Given the description of an element on the screen output the (x, y) to click on. 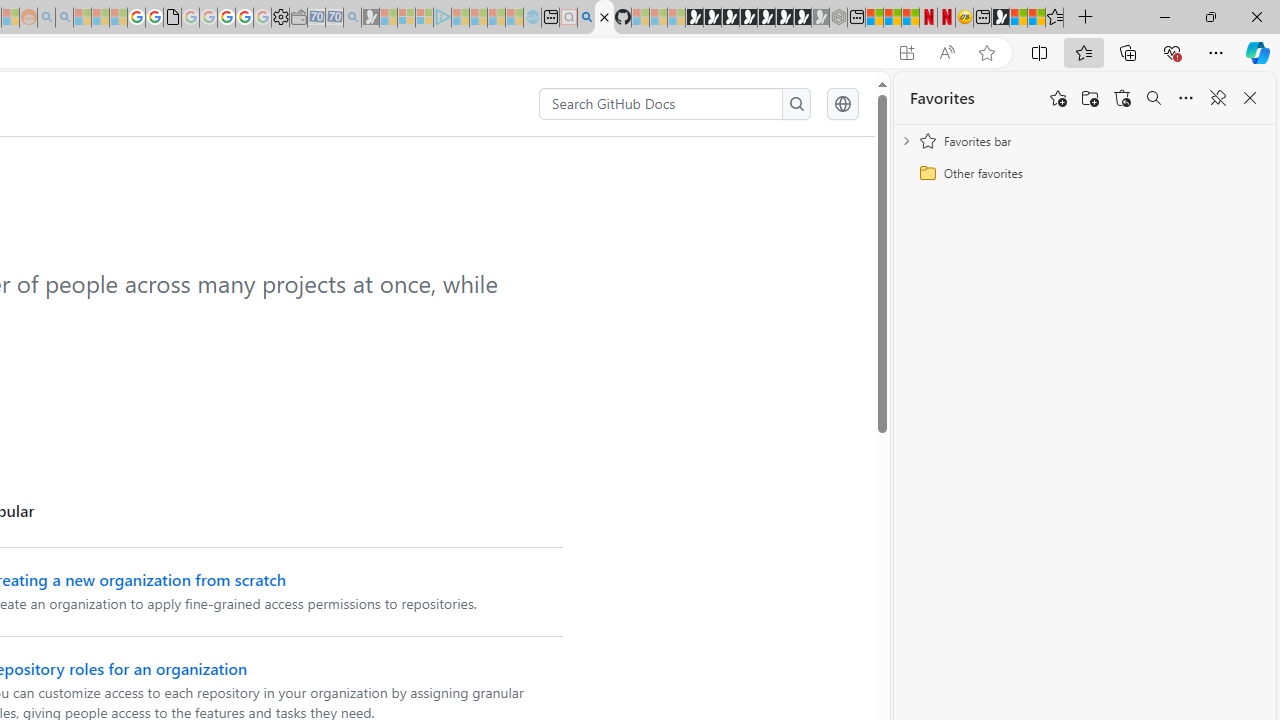
Utah sues federal government - Search - Sleeping (64, 17)
Unpin favorites (1217, 98)
Bing Real Estate - Home sales and rental listings - Sleeping (352, 17)
Wallet - Sleeping (298, 17)
